Given the description of an element on the screen output the (x, y) to click on. 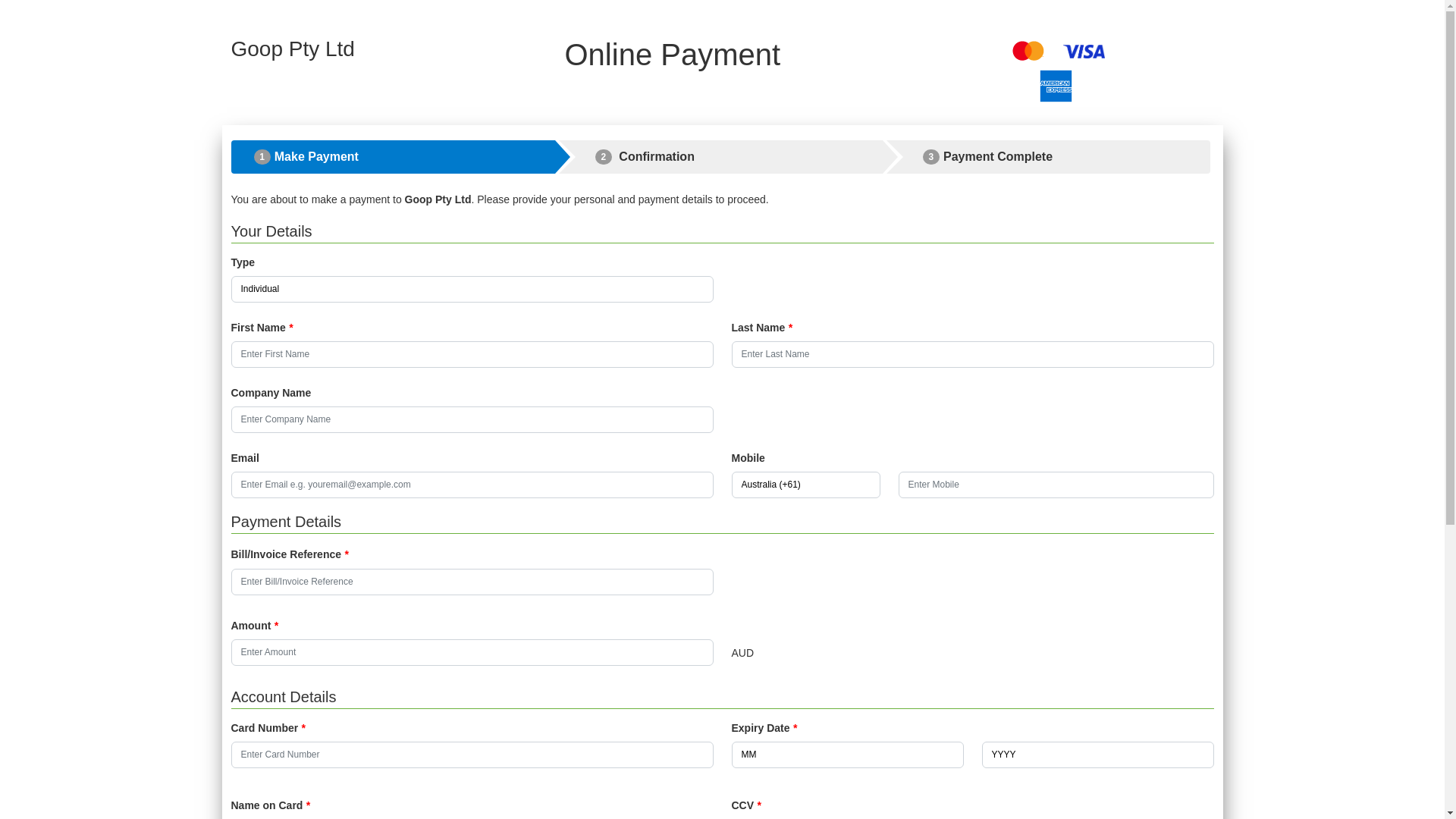
3Payment Complete Element type: text (1048, 156)
1Make Payment Element type: text (392, 156)
Mastercard Logo Element type: hover (1027, 50)
Visa Logo Element type: hover (1083, 51)
2 Confirmation Element type: text (720, 156)
Amex American Element type: hover (1055, 85)
